Given the description of an element on the screen output the (x, y) to click on. 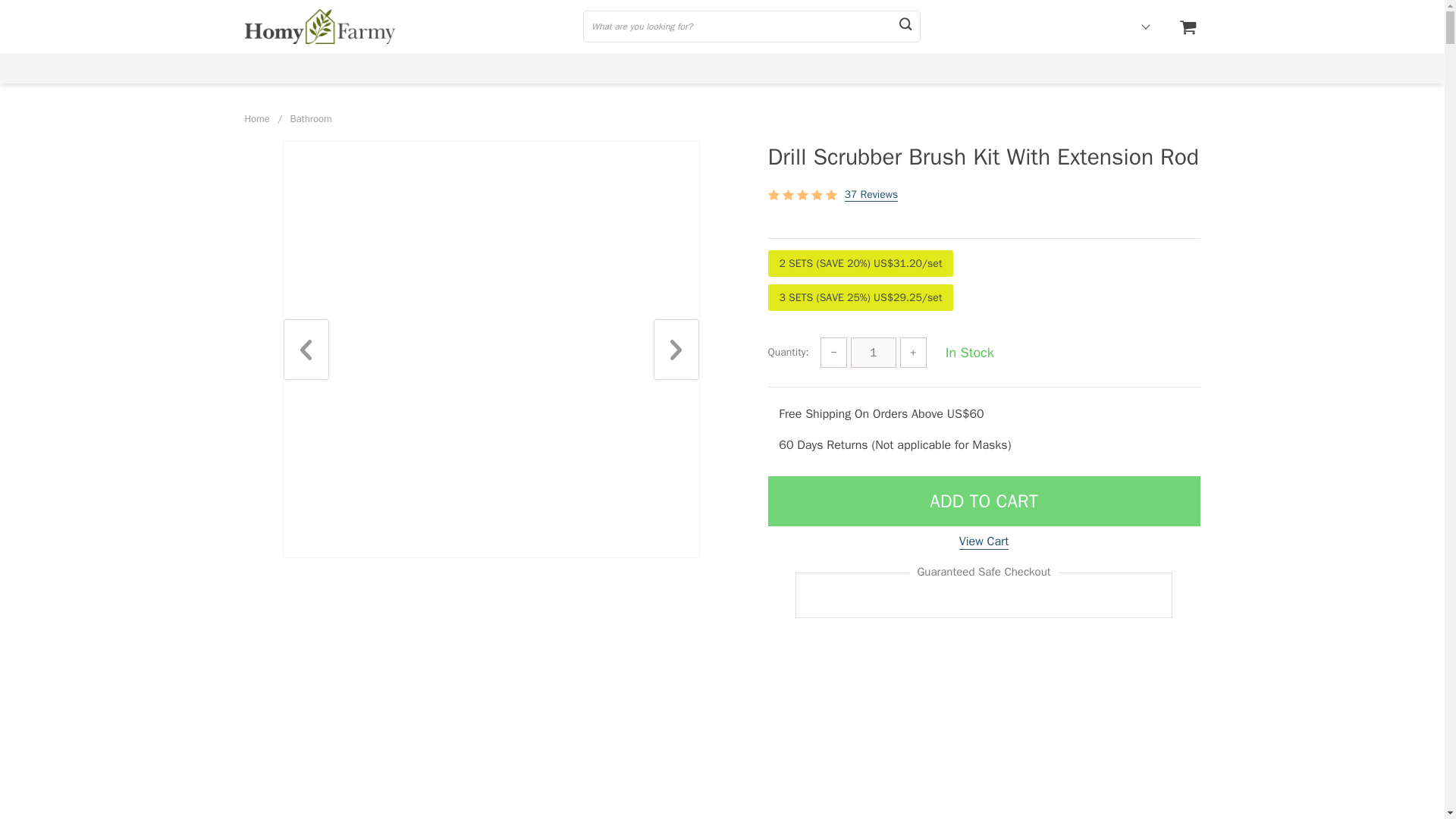
ADD TO CART (983, 500)
Home (256, 119)
1 (873, 352)
Bathroom (310, 118)
